Given the description of an element on the screen output the (x, y) to click on. 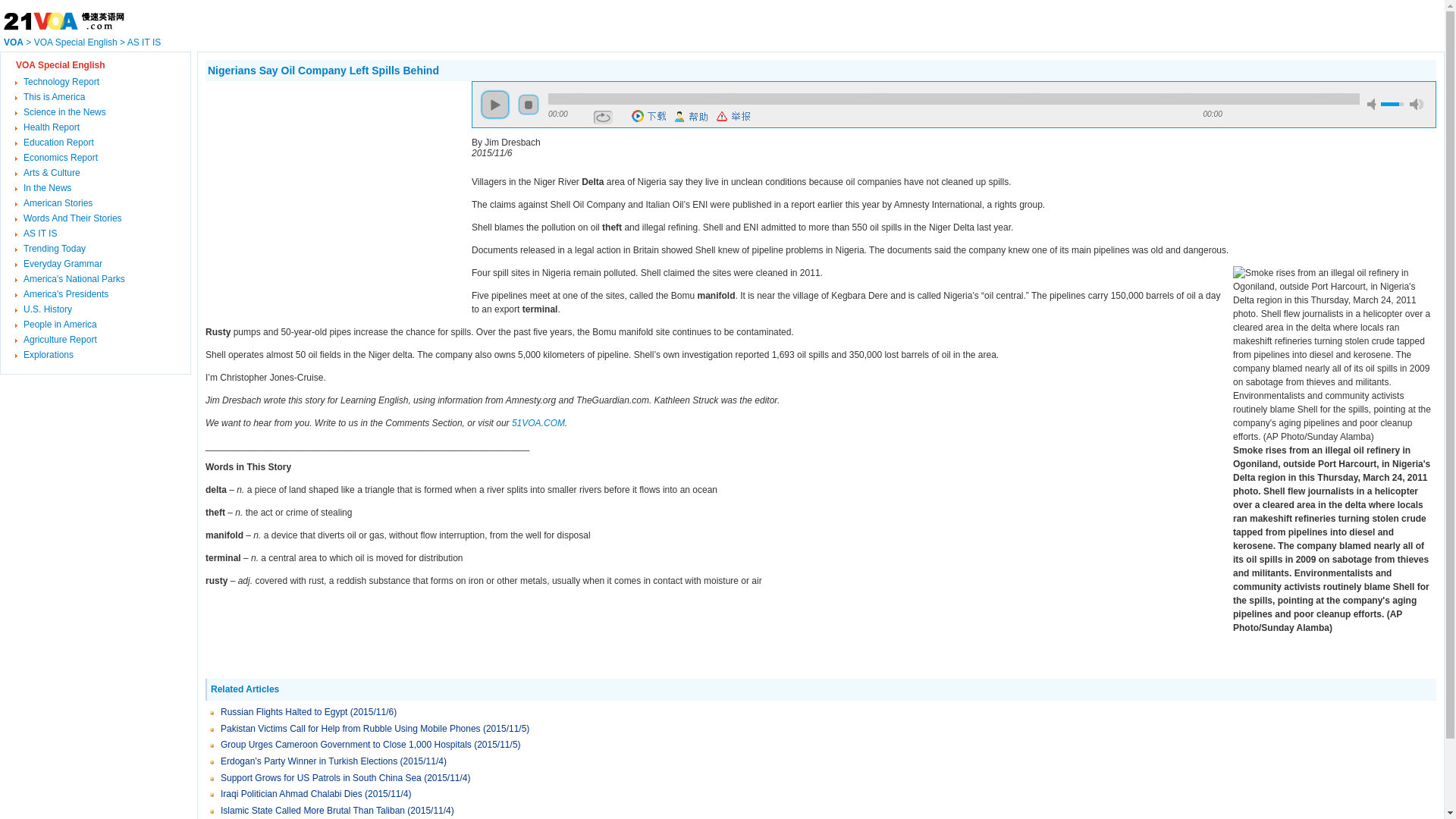
Words And Their Stories Element type: text (72, 218)
Education Report Element type: text (58, 142)
America's Presidents Element type: text (65, 293)
People in America Element type: text (60, 324)
Iraqi Politician Ahmad Chalabi Dies Element type: text (291, 793)
mute Element type: text (1373, 103)
Russian Flights Halted to Egypt Element type: text (283, 711)
max volume Element type: text (1416, 103)
U.S. History Element type: text (47, 309)
Everyday Grammar Element type: text (62, 263)
Explorations Element type: text (48, 354)
Agriculture Report Element type: text (60, 339)
AS IT IS Element type: text (39, 233)
Support Grows for US Patrols in South China Sea Element type: text (321, 777)
Health Report Element type: text (51, 127)
stop Element type: text (528, 104)
This is America Element type: text (53, 96)
VOA Special English Element type: text (75, 42)
VOA Element type: text (13, 42)
America's National Parks Element type: text (74, 278)
In the News Element type: text (47, 187)
Arts & Culture Element type: text (51, 172)
American Stories Element type: text (57, 202)
Trending Today Element type: text (54, 248)
Group Urges Cameroon Government to Close 1,000 Hospitals Element type: text (346, 744)
Economics Report Element type: text (60, 157)
Science in the News Element type: text (64, 111)
play Element type: text (495, 104)
repeat Element type: text (602, 117)
Islamic State Called More Brutal Than Taliban Element type: text (313, 810)
51VOA.COM Element type: text (537, 422)
AS IT IS Element type: text (143, 42)
Technology Report Element type: text (61, 81)
